Given the description of an element on the screen output the (x, y) to click on. 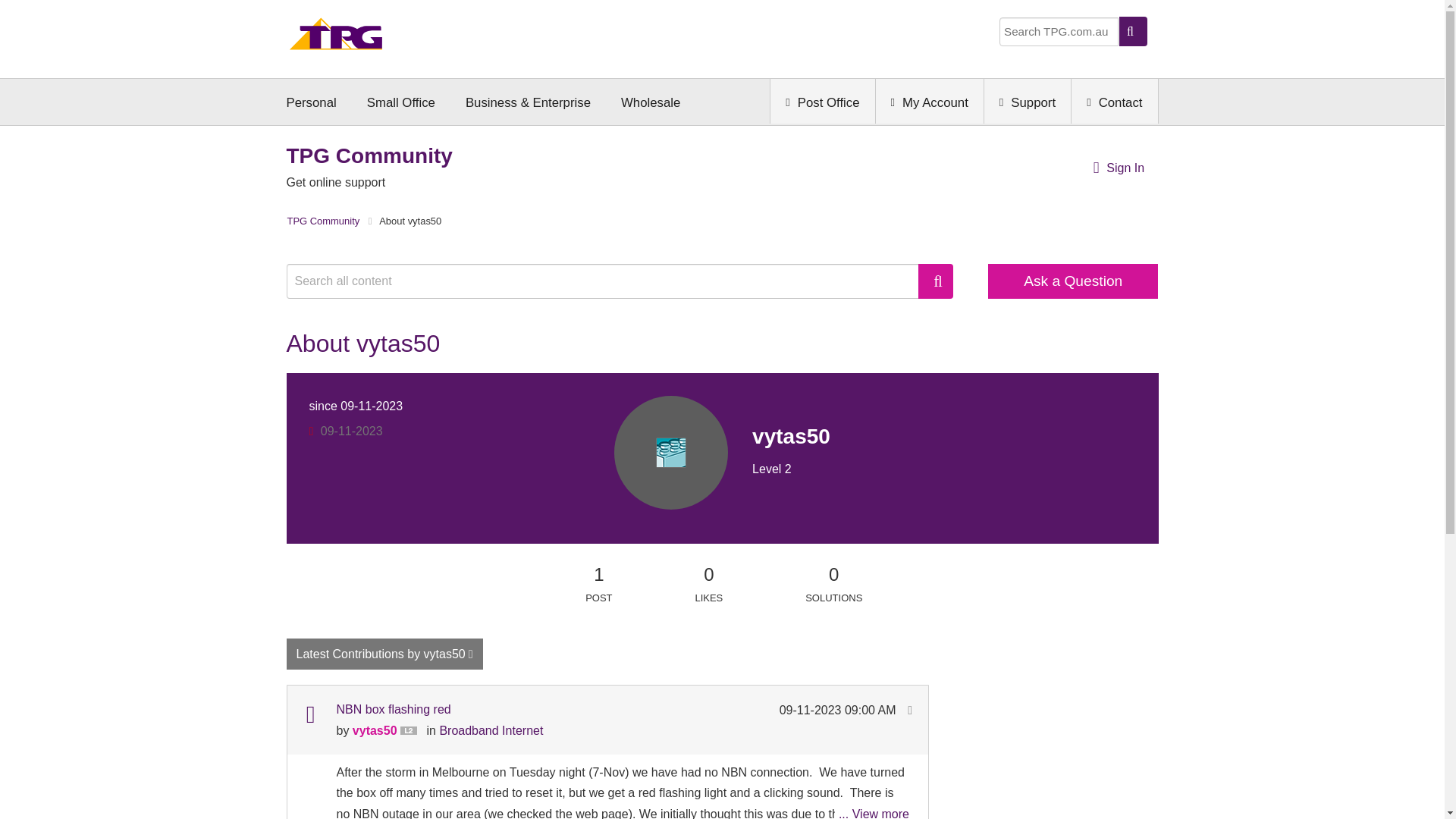
Posted on (838, 710)
Search (610, 280)
Show option menu (384, 653)
Level 2 (411, 731)
vytas50 (670, 452)
Search (935, 280)
Forum (309, 714)
Search (935, 280)
Home (335, 38)
